Given the description of an element on the screen output the (x, y) to click on. 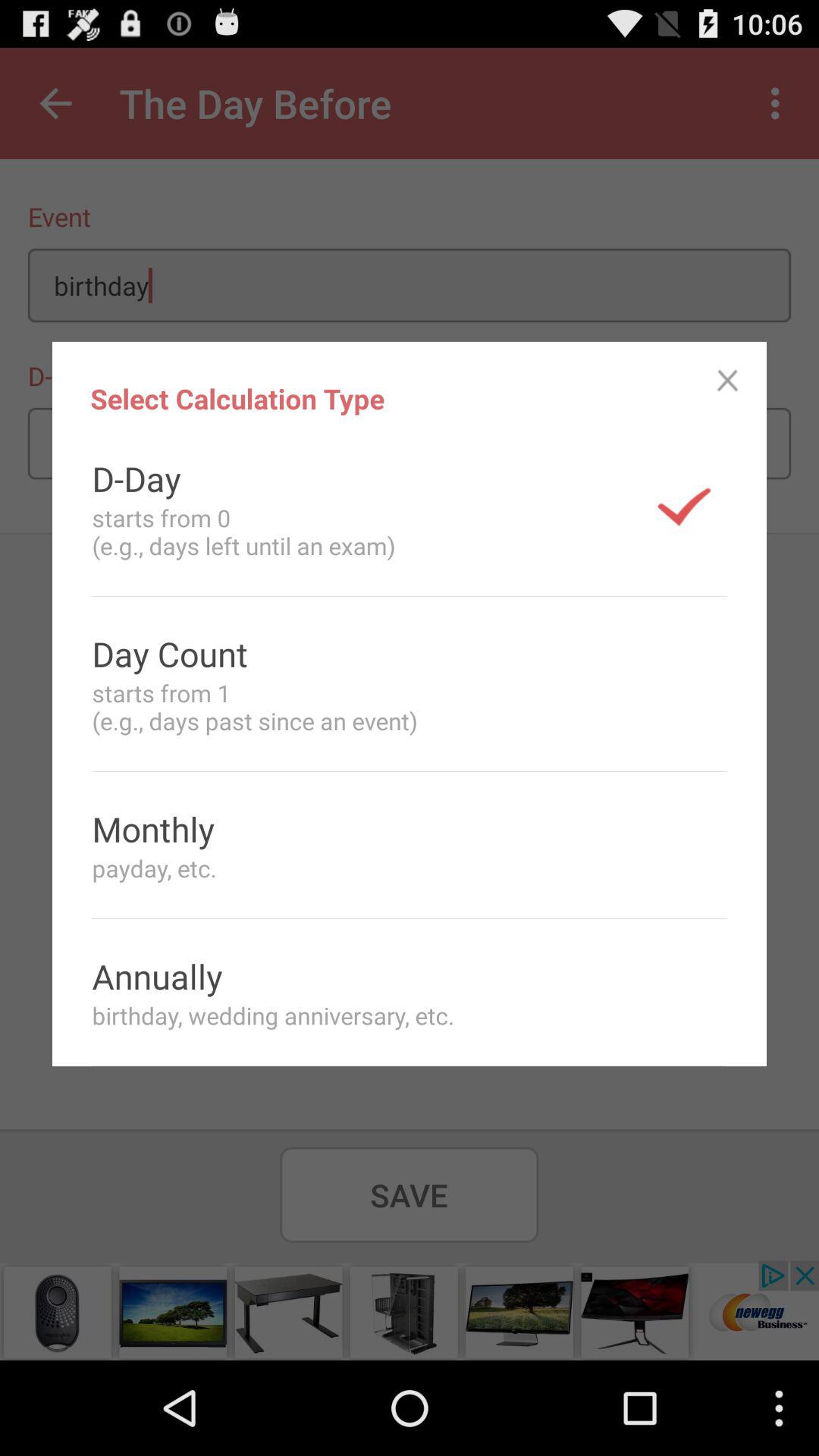
turn off the icon at the top right corner (727, 380)
